Given the description of an element on the screen output the (x, y) to click on. 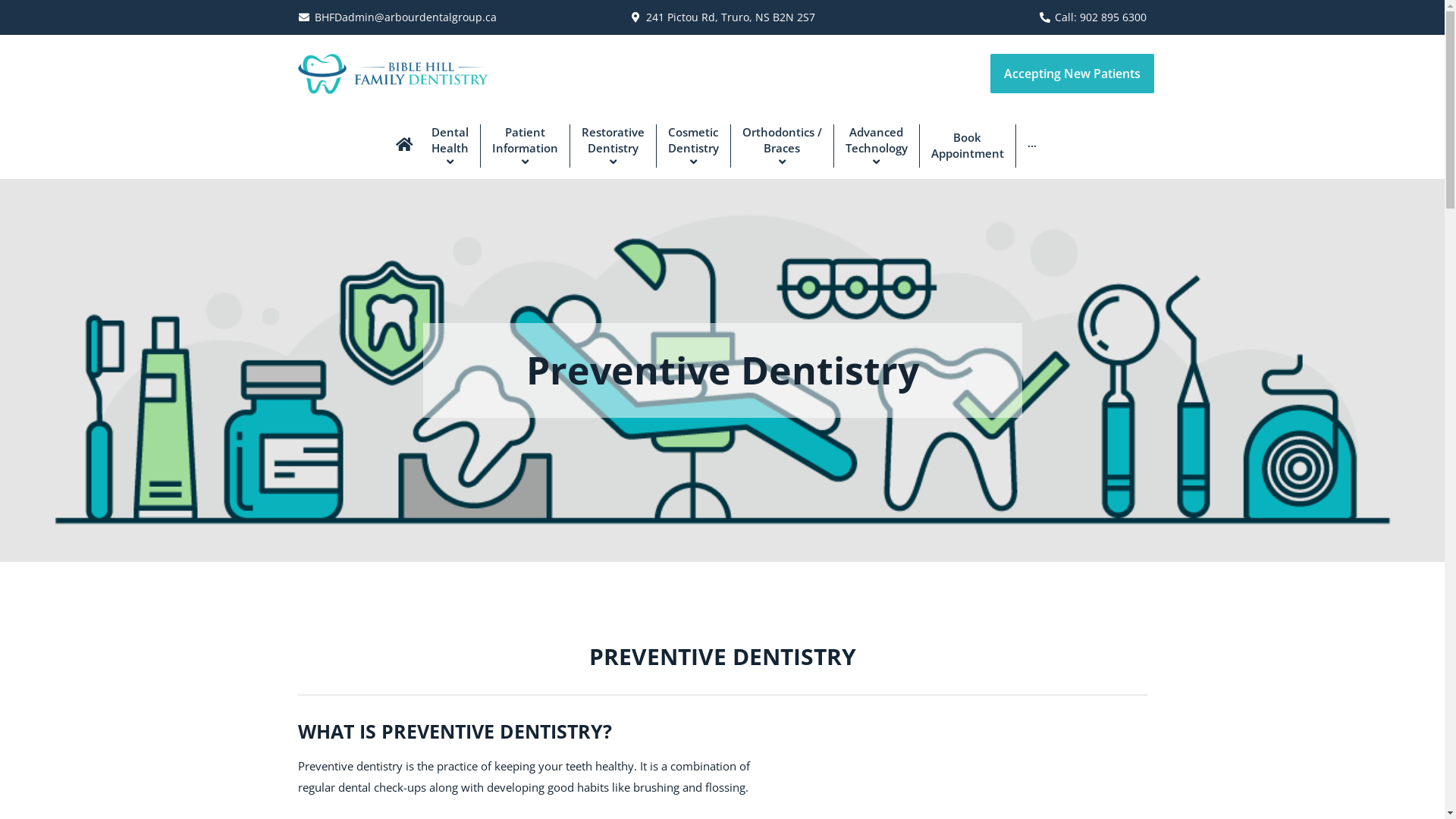
Accepting New Patients Element type: text (1072, 73)
Patient
Information Element type: text (523, 145)
Dental
Health Element type: text (450, 145)
Restorative
Dentistry Element type: text (611, 145)
BHFDadmin@arbourdentalgroup.ca Element type: text (405, 16)
Orthodontics /
Braces Element type: text (780, 145)
241 Pictou Rd, Truro, NS B2N 2S7 Element type: text (730, 16)
Book
Appointment Element type: text (967, 145)
Call: 902 895 6300 Element type: text (1100, 16)
Cosmetic
Dentistry Element type: text (692, 145)
Advanced
Technology Element type: text (875, 145)
